Given the description of an element on the screen output the (x, y) to click on. 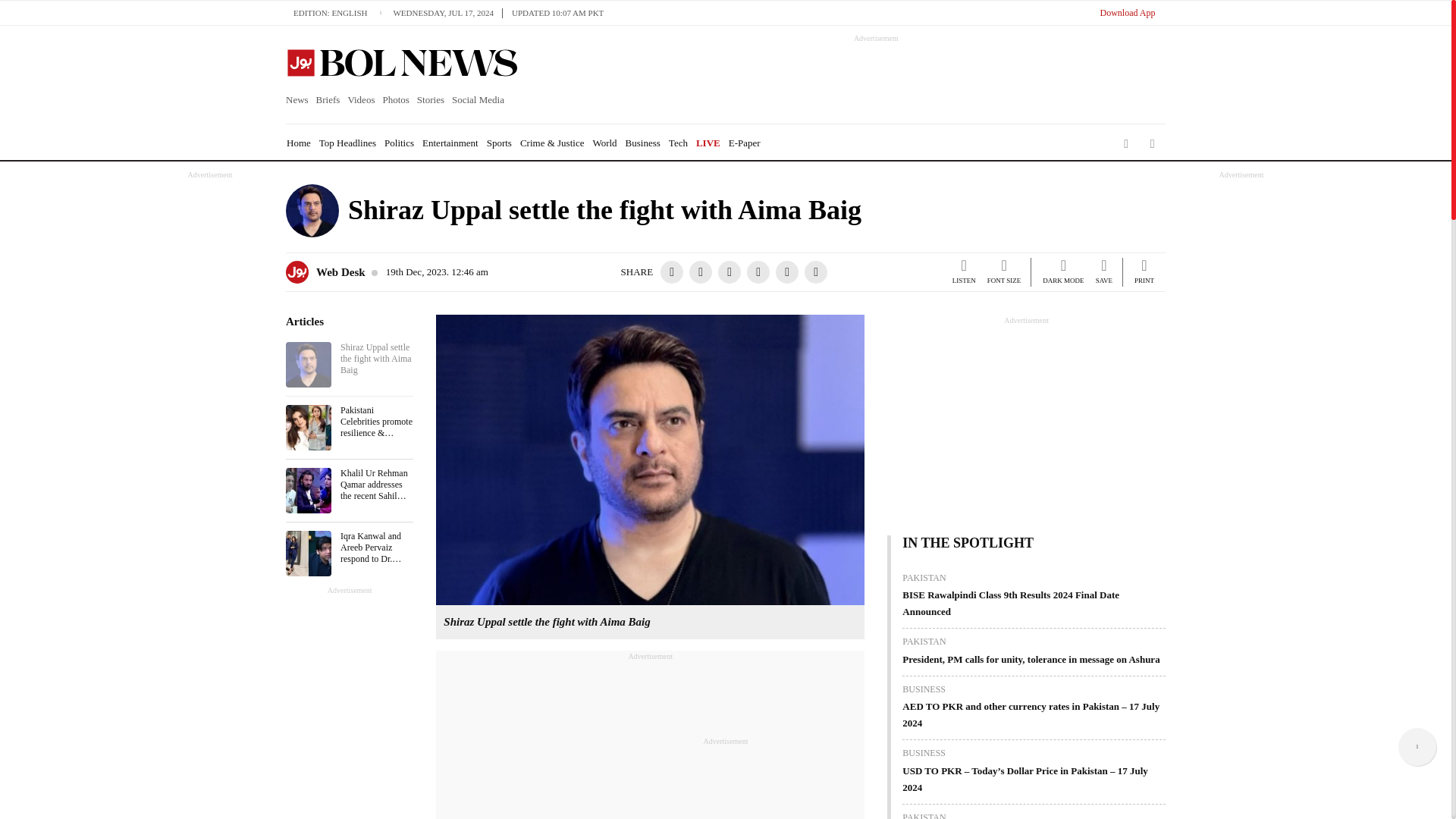
bookmark article (1104, 273)
Advertisement (862, 78)
World (603, 143)
Briefs (328, 99)
News (299, 99)
Advertisement (650, 740)
Photos (395, 99)
Business (643, 143)
LIVE (707, 143)
Videos (360, 99)
Advertisement (725, 780)
UPDATED 10:07 AM PKT (557, 12)
E-Paper (744, 143)
Top Headlines (346, 143)
WEDNESDAY, JUL 17, 2024 (447, 12)
